Given the description of an element on the screen output the (x, y) to click on. 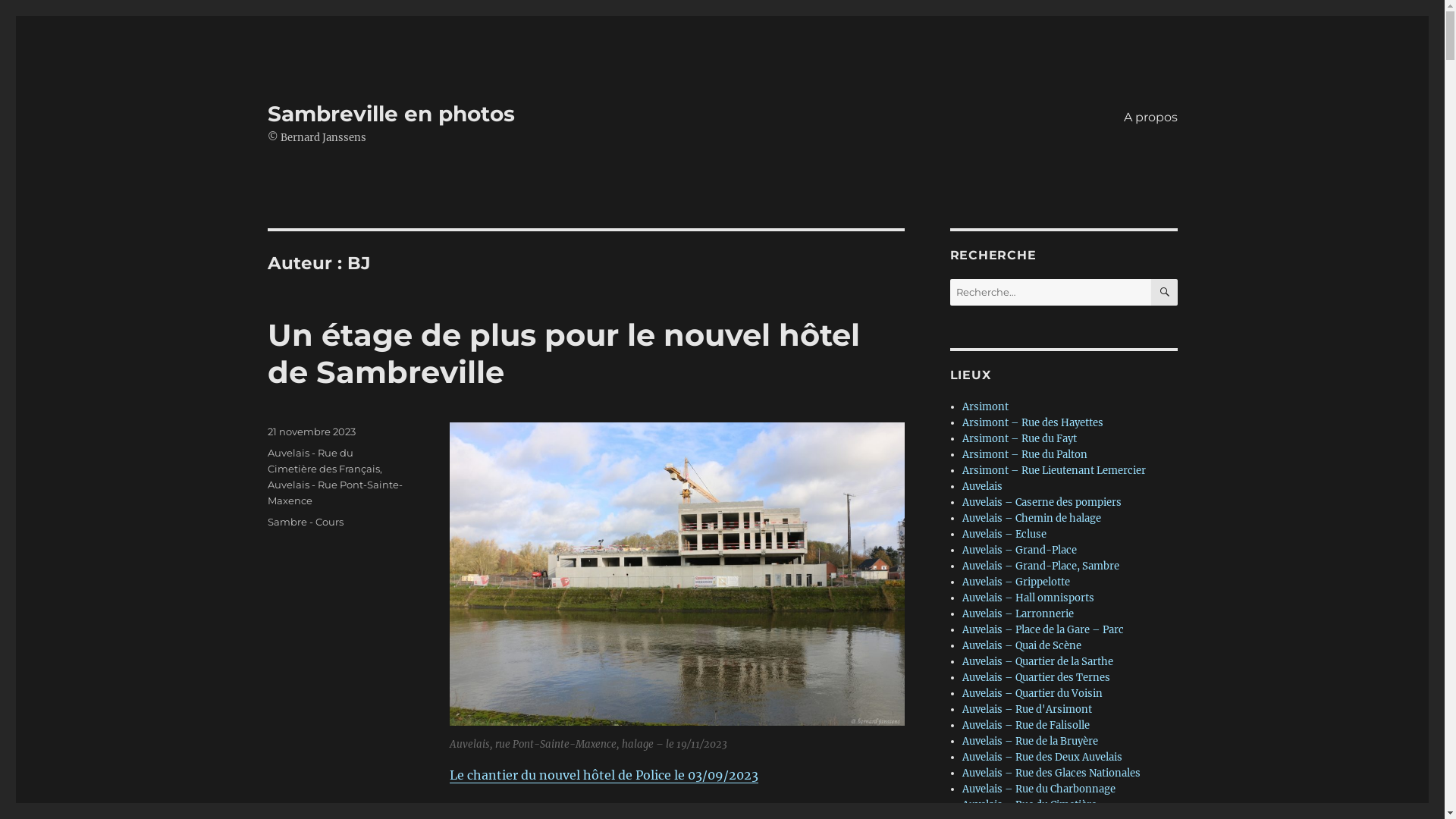
21 novembre 2023 Element type: text (310, 431)
Auvelais Element type: text (982, 486)
A propos Element type: text (1150, 116)
Sambre - Cours Element type: text (304, 521)
RECHERCHE Element type: text (1164, 292)
Arsimont Element type: text (985, 406)
Sambreville en photos Element type: text (390, 113)
Auvelais - Rue Pont-Sainte-Maxence Element type: text (333, 492)
